Given the description of an element on the screen output the (x, y) to click on. 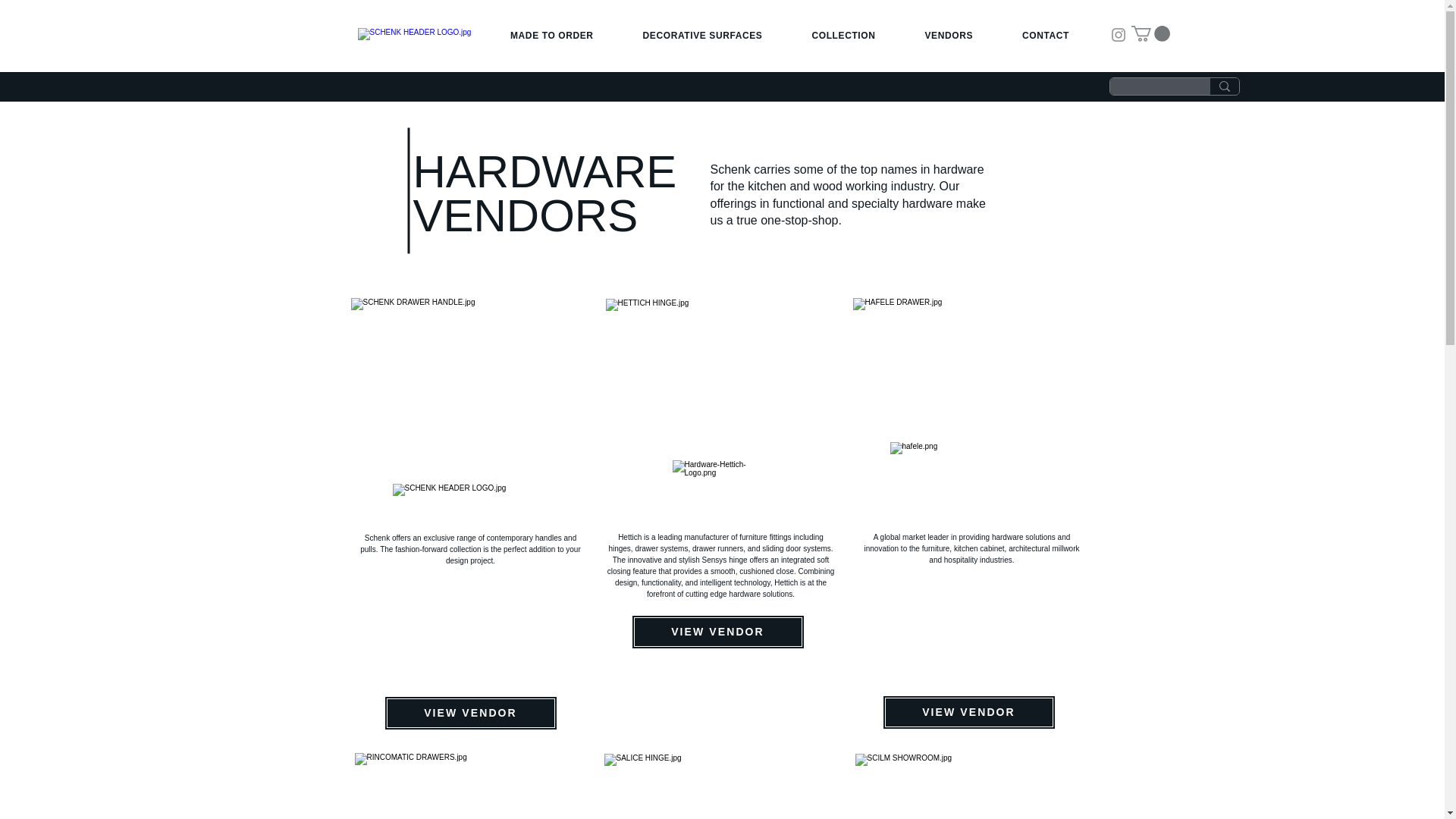
COLLECTION (843, 35)
CONTACT (1045, 35)
VIEW VENDOR (470, 713)
VENDORS (948, 35)
